Given the description of an element on the screen output the (x, y) to click on. 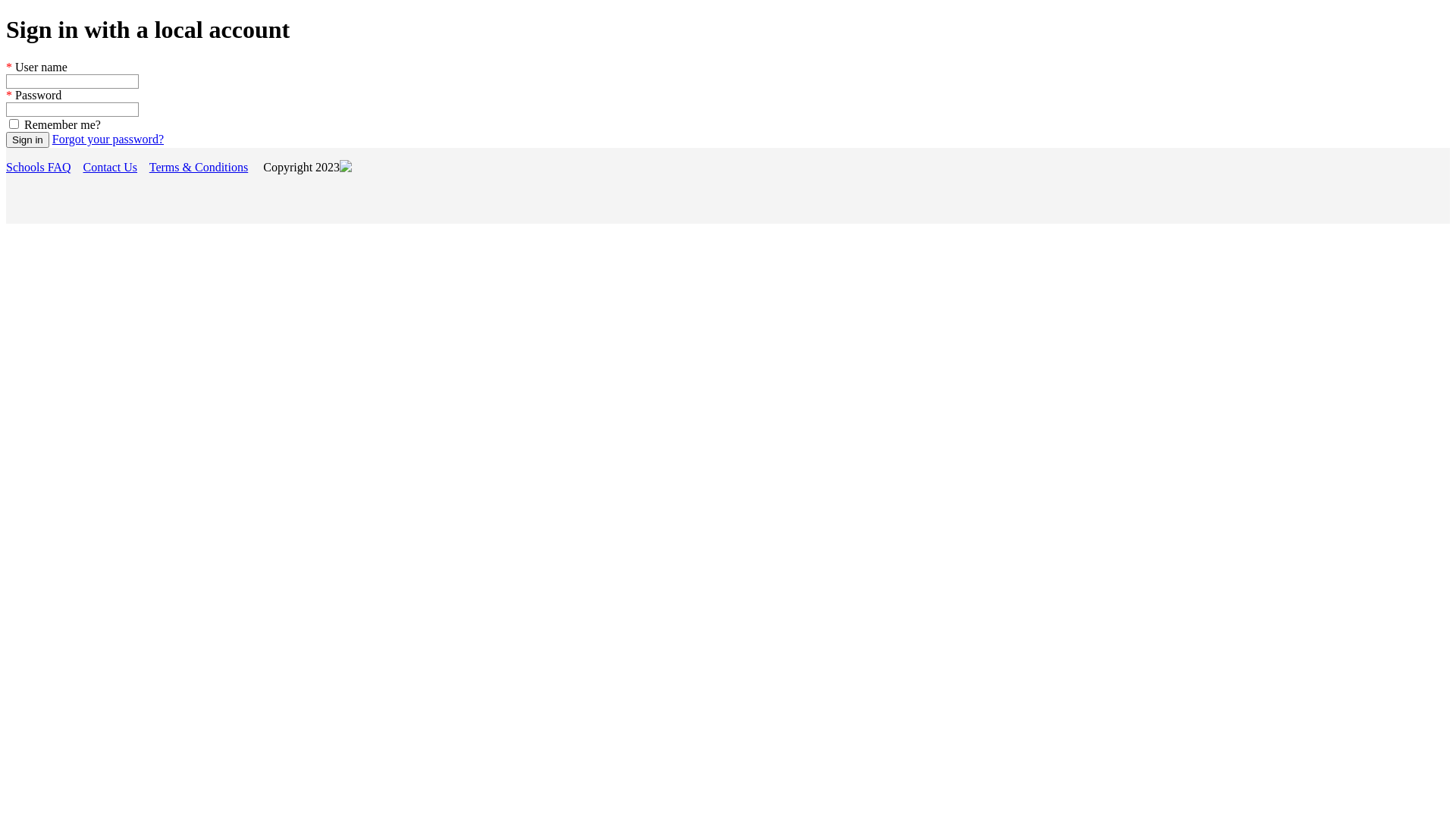
Sign in Element type: text (27, 139)
Terms & Conditions Element type: text (198, 166)
Contact Us Element type: text (110, 166)
Schools FAQ Element type: text (38, 166)
Forgot your password? Element type: text (107, 138)
